Given the description of an element on the screen output the (x, y) to click on. 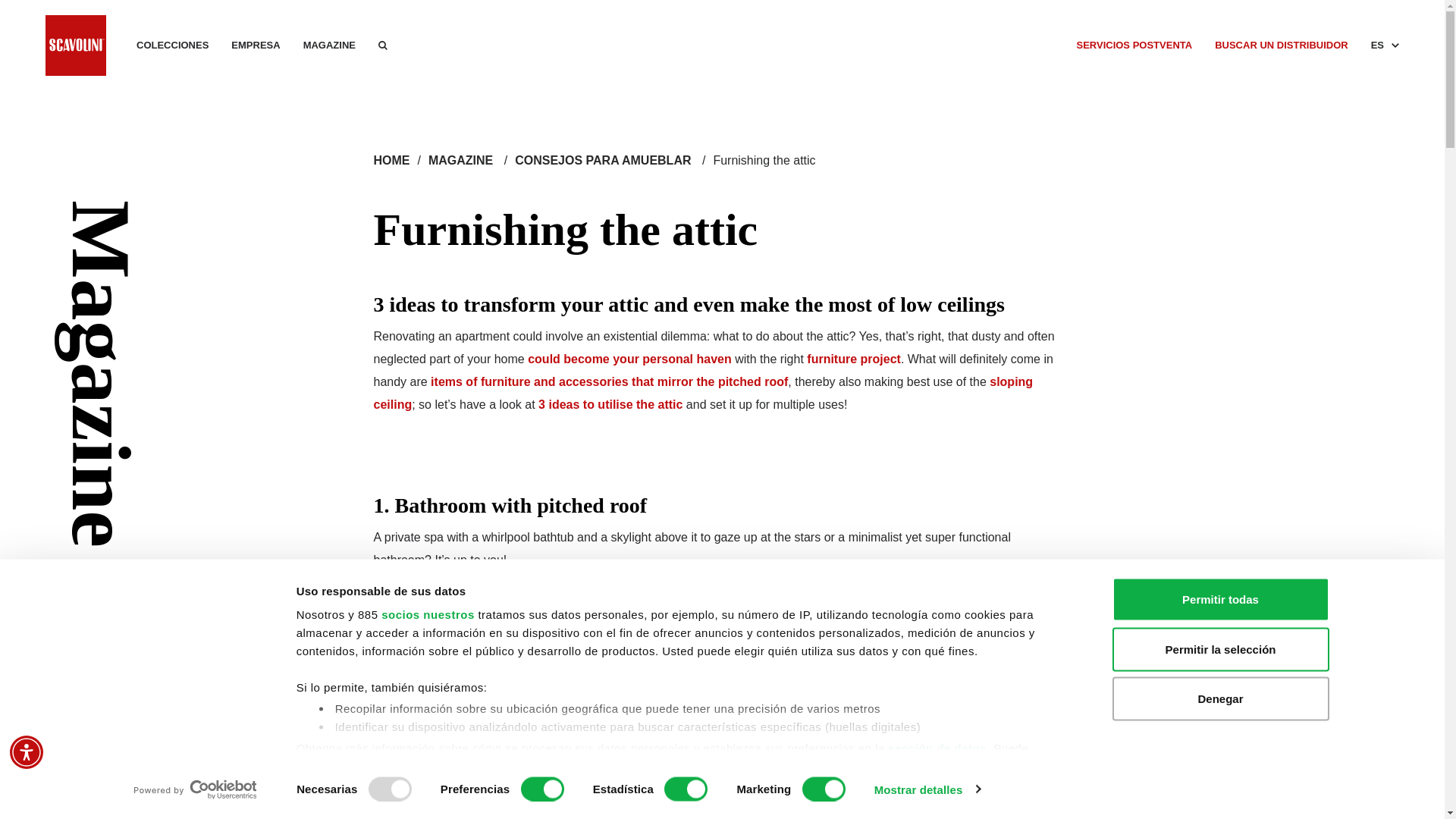
Mostrar detalles (926, 789)
Accessibility Menu (26, 752)
socios nuestros (427, 614)
